Given the description of an element on the screen output the (x, y) to click on. 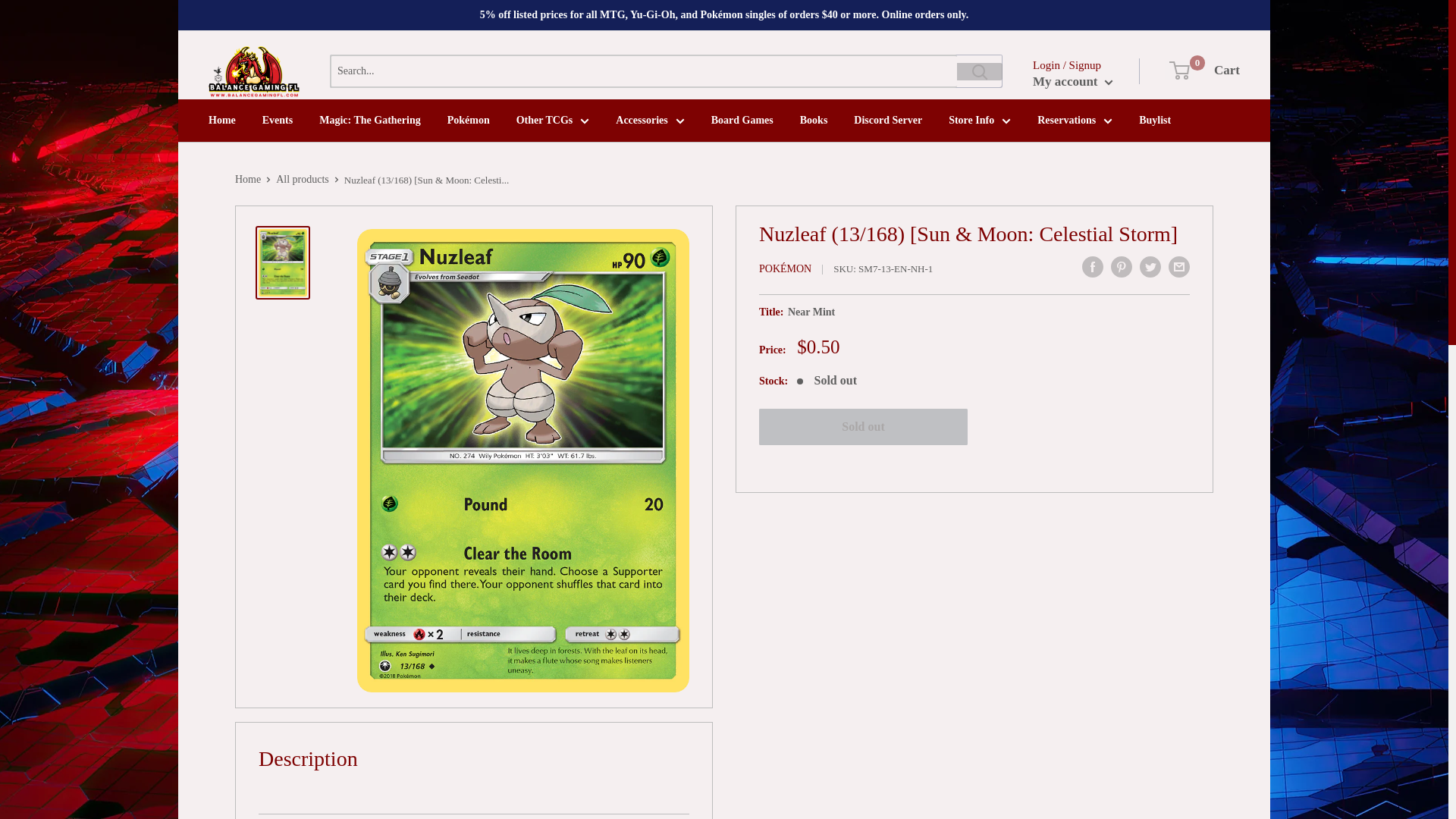
Search (979, 71)
Add to Cart (863, 426)
